Given the description of an element on the screen output the (x, y) to click on. 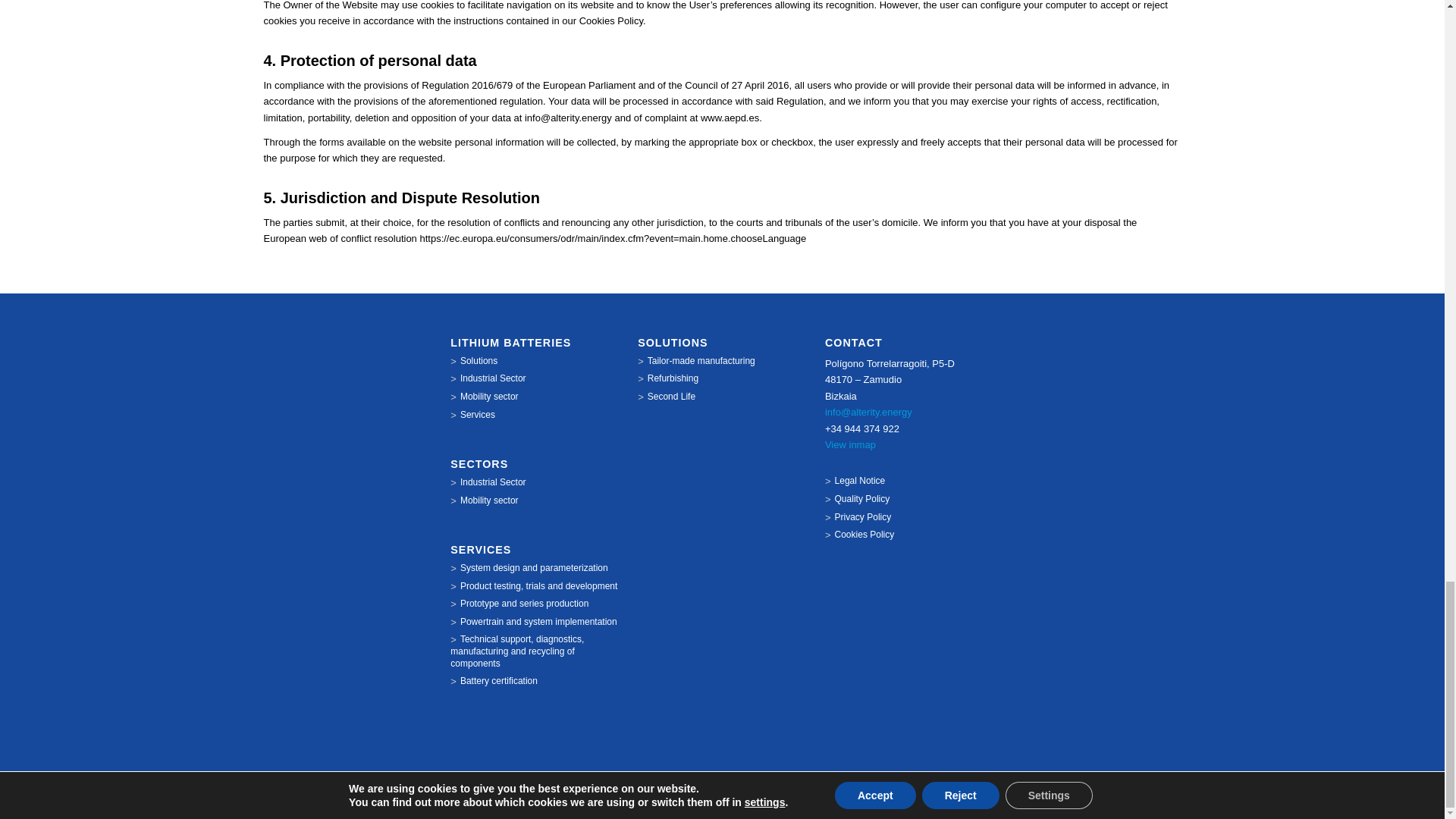
Second Life (721, 397)
System design and parameterization (534, 568)
Mobility sector (534, 397)
Mobility sector (534, 500)
Prototype and series production (534, 604)
LinkedIn (1170, 798)
Product testing, trials and development (534, 586)
Legal Notice (909, 481)
Powertrain and system implementation (534, 622)
